Given the description of an element on the screen output the (x, y) to click on. 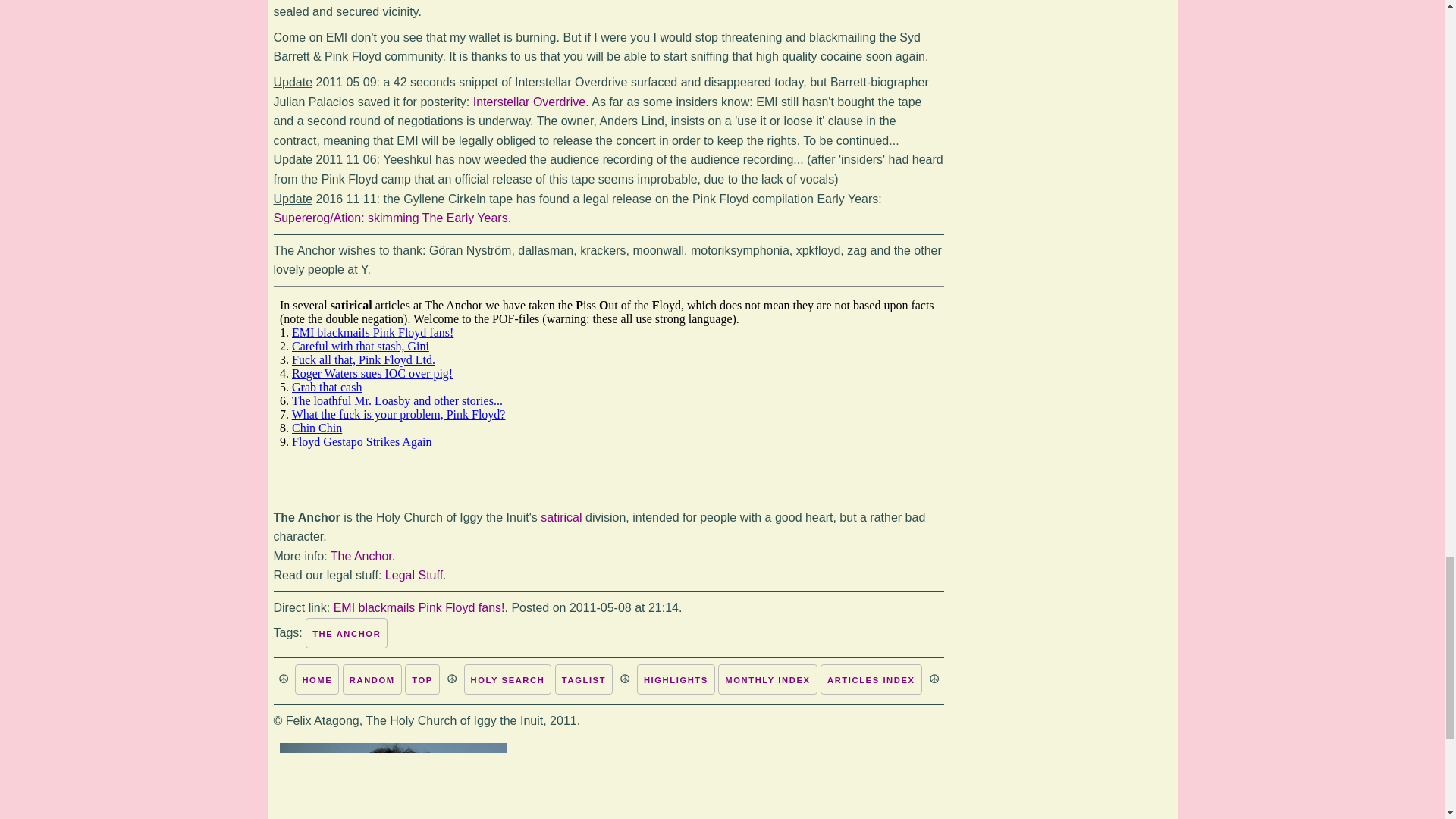
Legal Stuff (413, 574)
Legal Stuff (413, 574)
THE ANCHOR (346, 633)
Interstellar Overdrive (529, 101)
HOLY SEARCH (507, 679)
EMI blackmails Pink Floyd fans! (419, 607)
TOP (421, 679)
HOME (317, 679)
MONTHLY INDEX (766, 679)
RANDOM (371, 679)
